Given the description of an element on the screen output the (x, y) to click on. 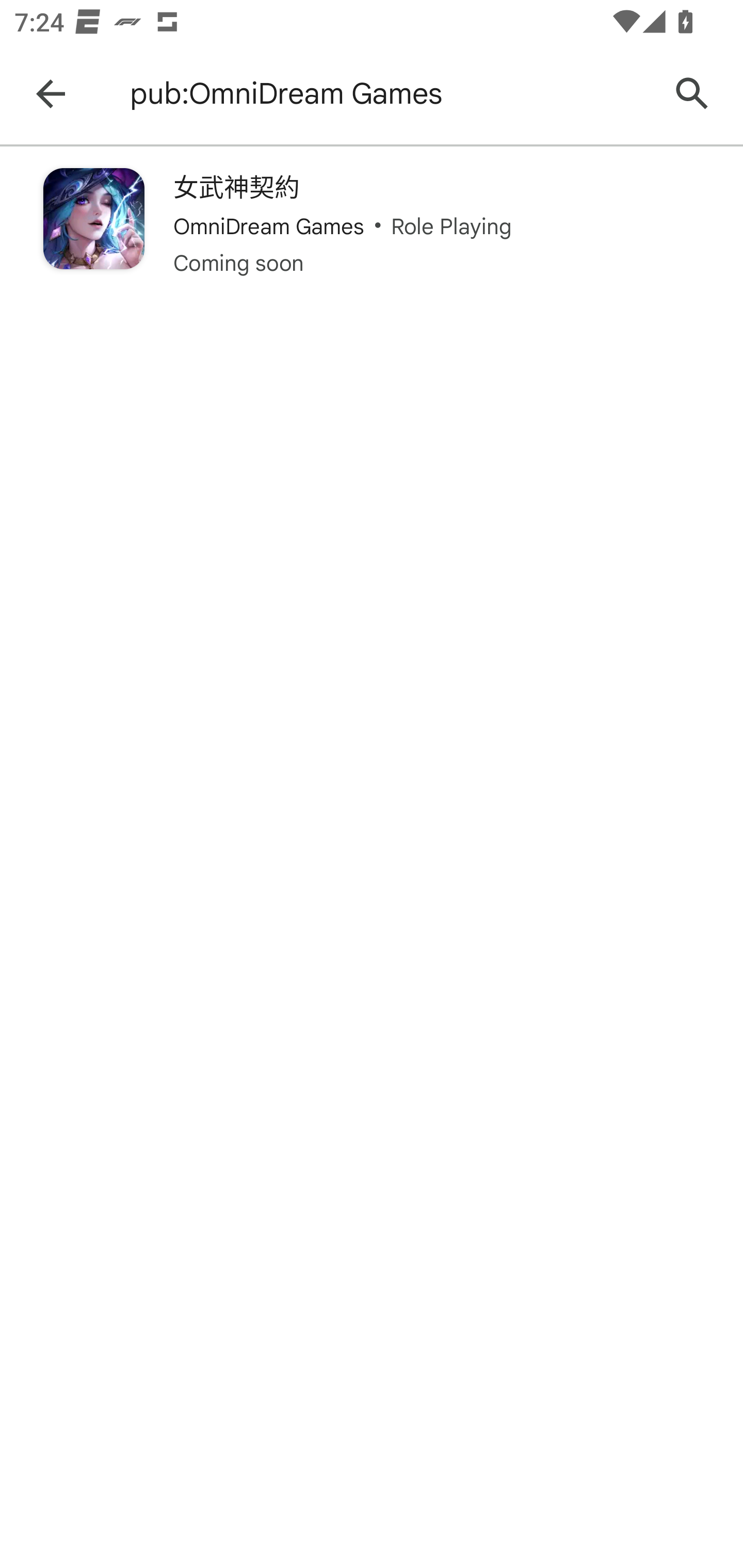
pub:OmniDream Games (389, 93)
Navigate up (50, 93)
Search Google Play (692, 93)
女武神契約
OmniDream Games
Role Playing
Coming soon
 (371, 223)
